Given the description of an element on the screen output the (x, y) to click on. 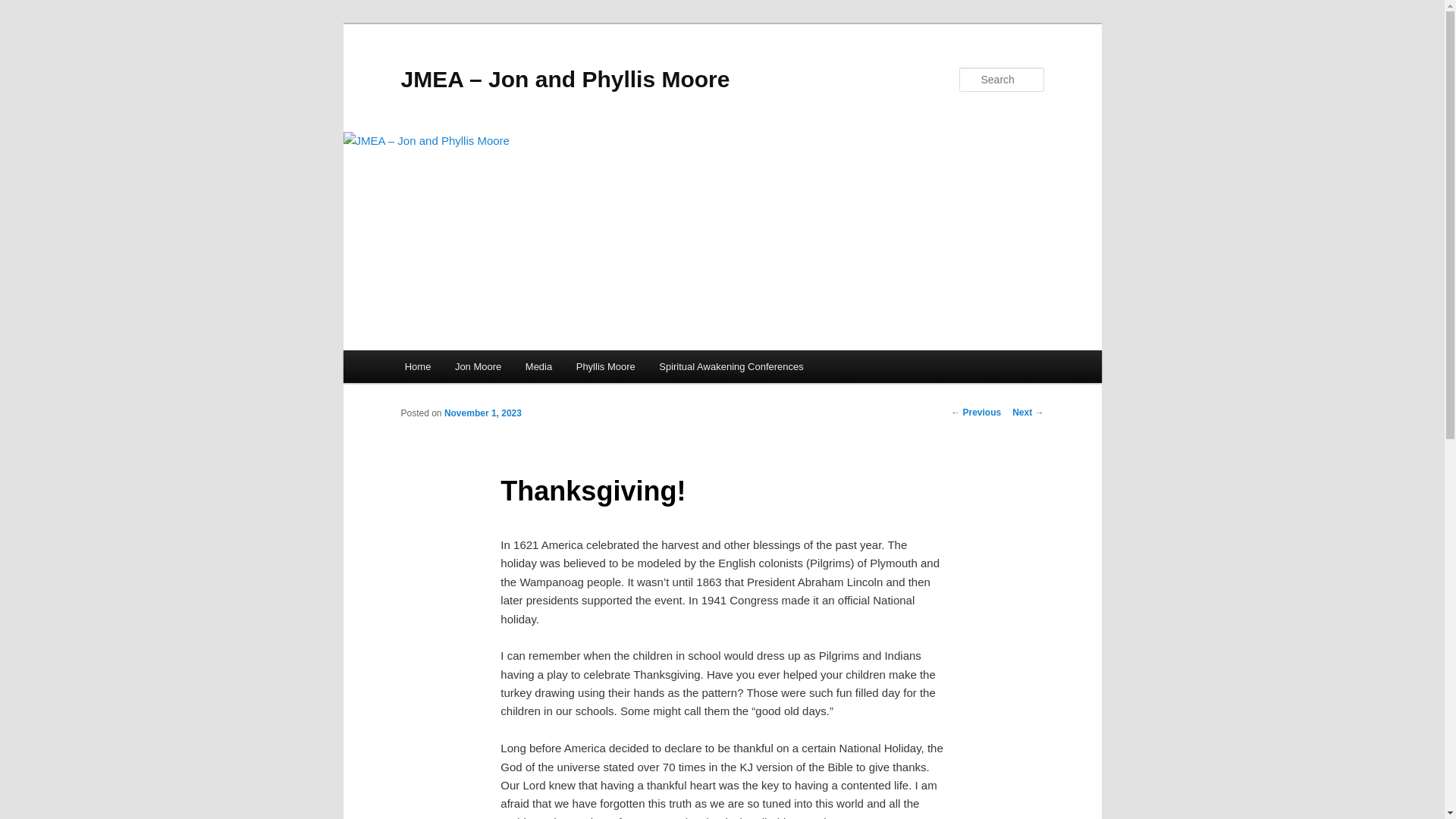
November 1, 2023 (482, 412)
Home (417, 366)
11:00 am (482, 412)
Media (538, 366)
Phyllis Moore (605, 366)
Jon Moore (477, 366)
Spiritual Awakening Conferences (731, 366)
Search (24, 8)
